Given the description of an element on the screen output the (x, y) to click on. 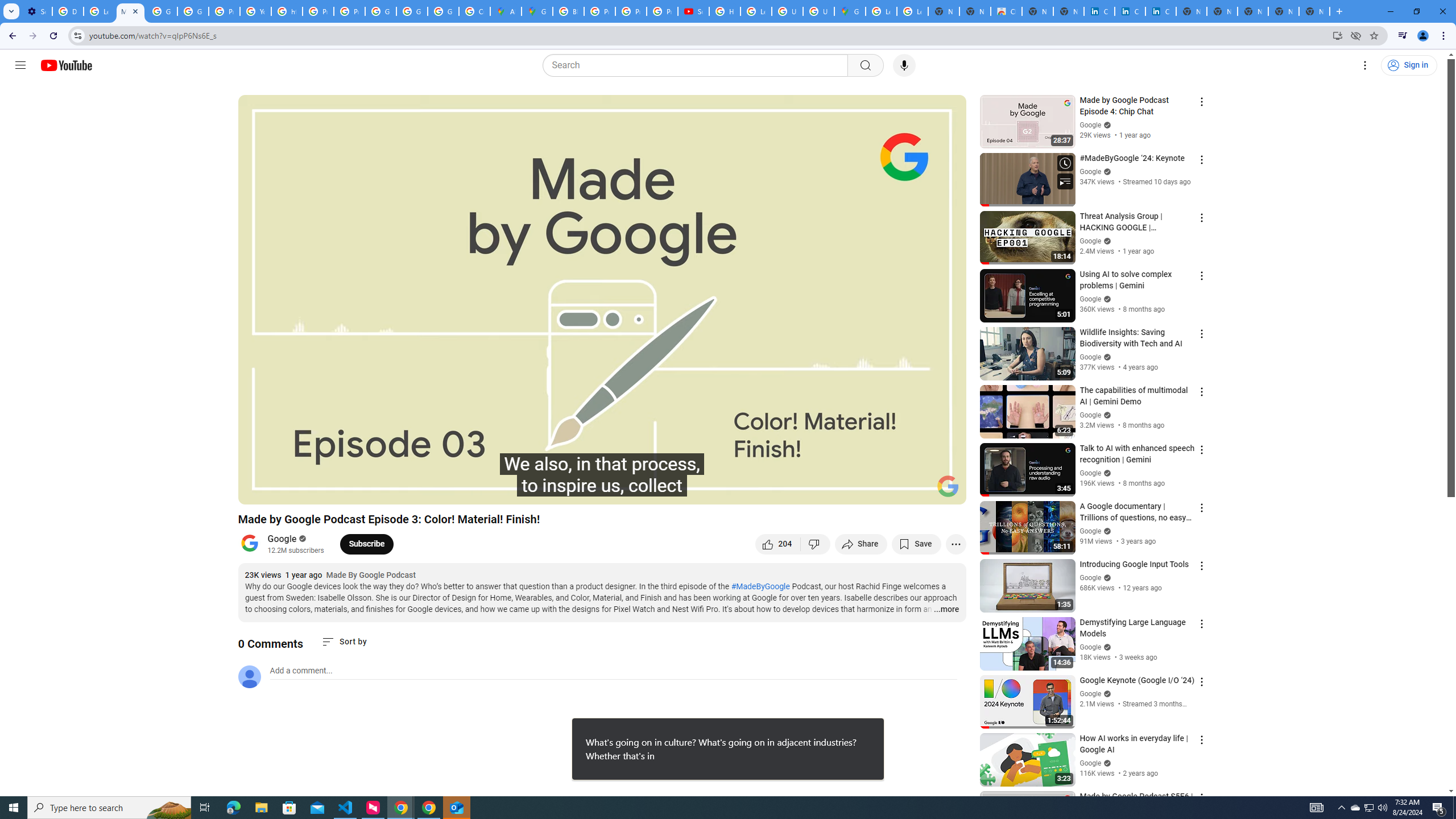
AutomationID: simplebox-placeholder (301, 670)
Mute (m) (312, 490)
Cookie Policy | LinkedIn (1098, 11)
YouTube Home (66, 65)
Learn how to find your photos - Google Photos Help (98, 11)
https://scholar.google.com/ (286, 11)
